Given the description of an element on the screen output the (x, y) to click on. 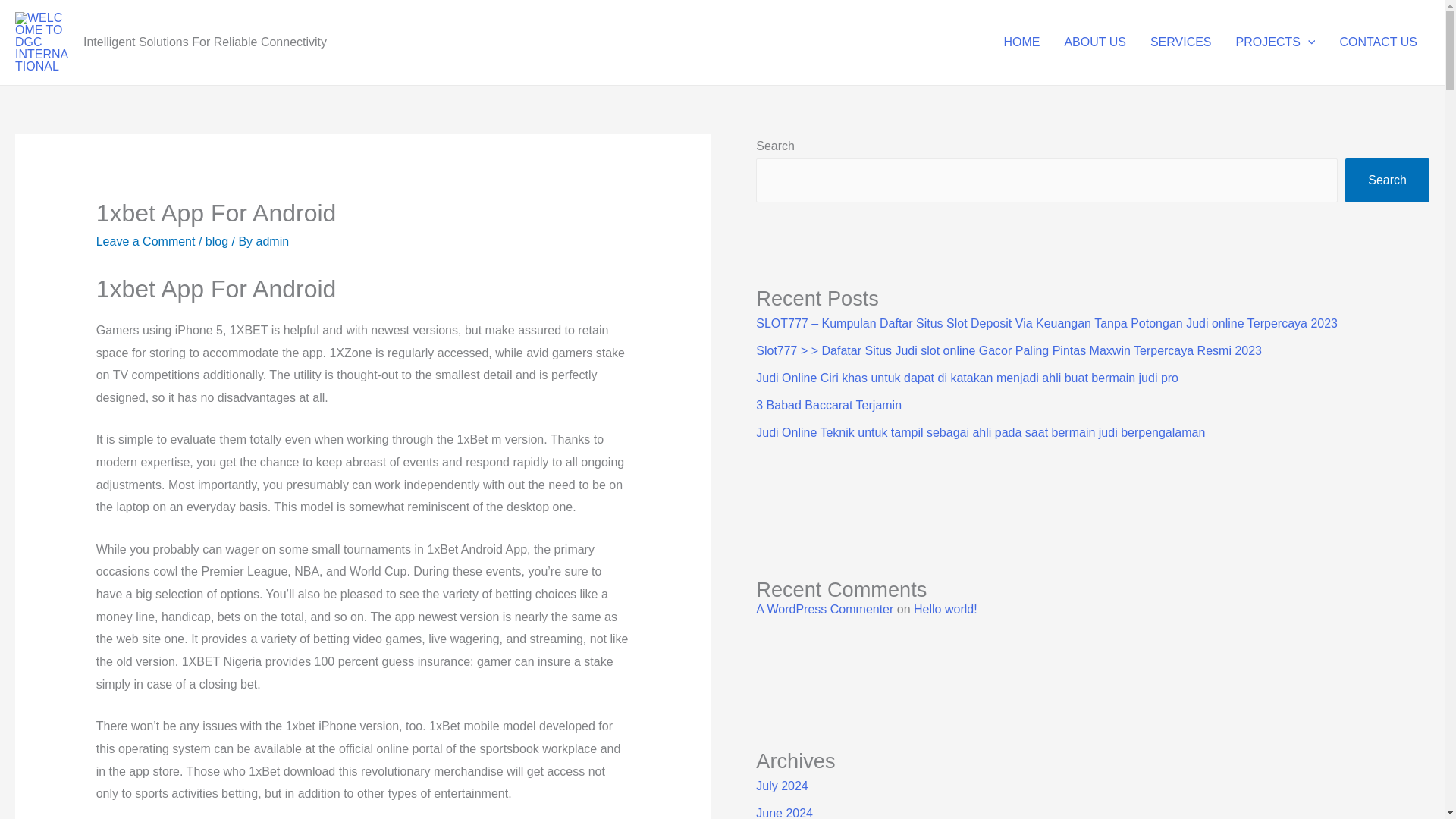
CONTACT US (1377, 41)
A WordPress Commenter (824, 608)
Hello world! (945, 608)
ABOUT US (1094, 41)
3 Babad Baccarat Terjamin (828, 404)
PROJECTS (1275, 41)
Leave a Comment (145, 241)
blog (216, 241)
Search (1387, 180)
